Given the description of an element on the screen output the (x, y) to click on. 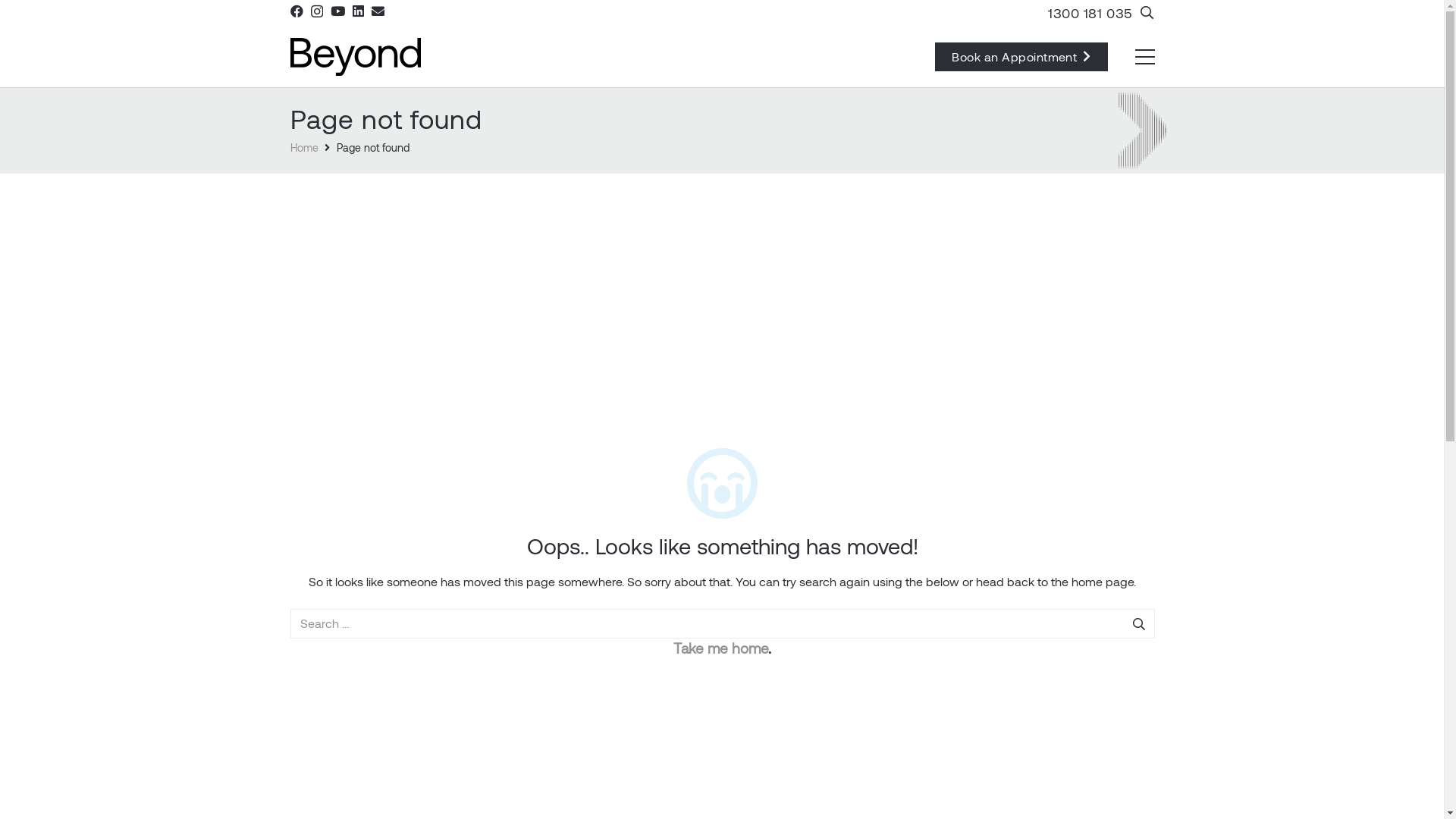
Instagram Element type: hover (316, 11)
YouTube Element type: hover (816, 662)
Newcastle Creative Co. Element type: text (913, 778)
Send an Email Element type: text (816, 558)
Facebook Element type: hover (754, 662)
See Our Locations Element type: text (827, 629)
1300 181 035 Element type: text (812, 593)
Search Element type: text (1137, 623)
LinkedIn Element type: hover (846, 662)
Book an Appointment Element type: text (1021, 56)
Home Element type: text (303, 147)
YouTube Element type: hover (337, 10)
Instagram Element type: hover (785, 663)
Privacy Policy Element type: text (722, 800)
Email Element type: hover (377, 10)
Locations Element type: hover (762, 629)
1300 181 035 Element type: text (1090, 12)
Take me home Element type: text (720, 647)
Facebook Element type: hover (295, 10)
Oops.. Looks like something has moved! Element type: text (721, 545)
Our team Element type: text (312, 691)
LinkedIn Element type: hover (357, 10)
